Given the description of an element on the screen output the (x, y) to click on. 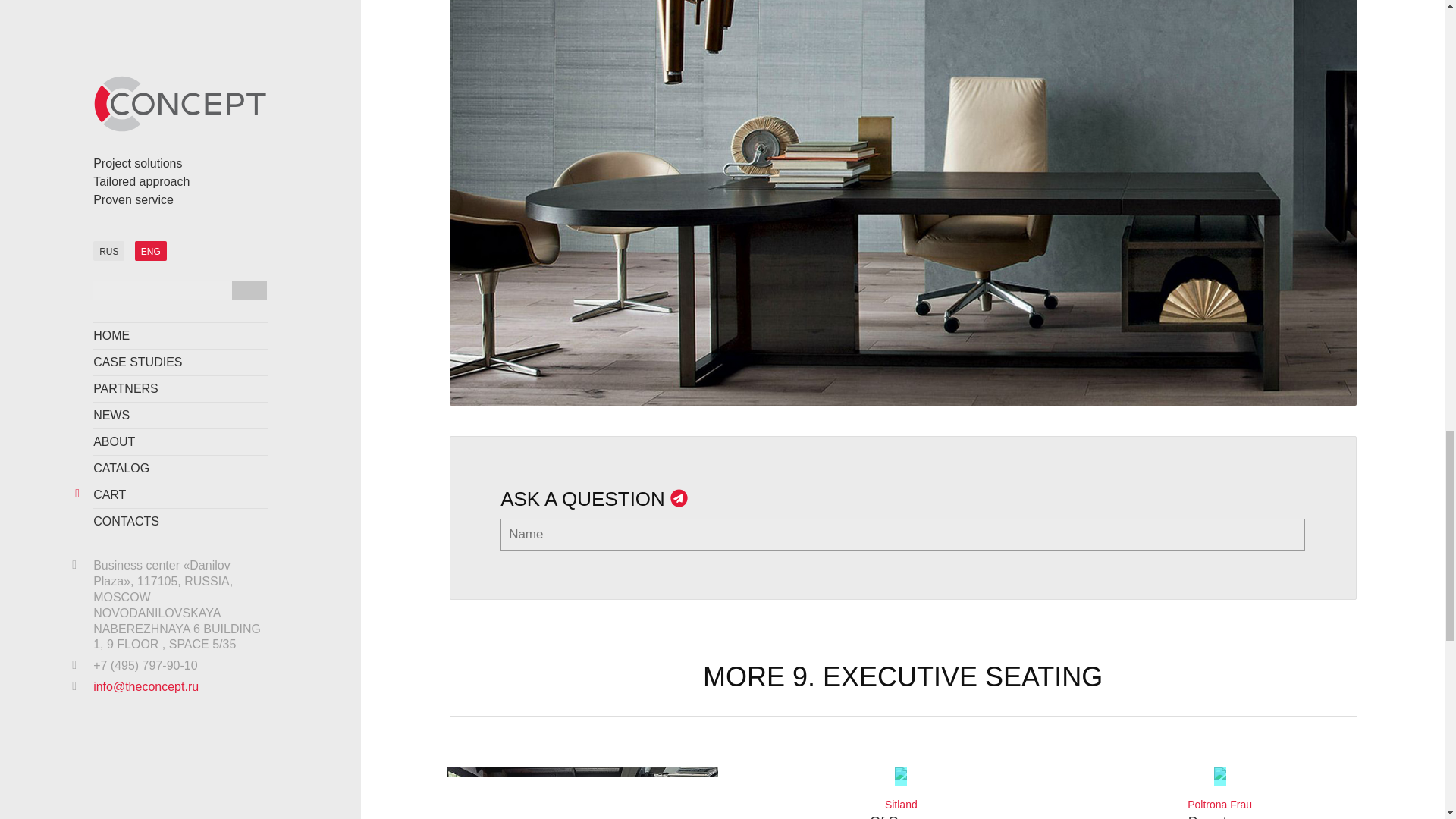
 Send  (900, 793)
